Given the description of an element on the screen output the (x, y) to click on. 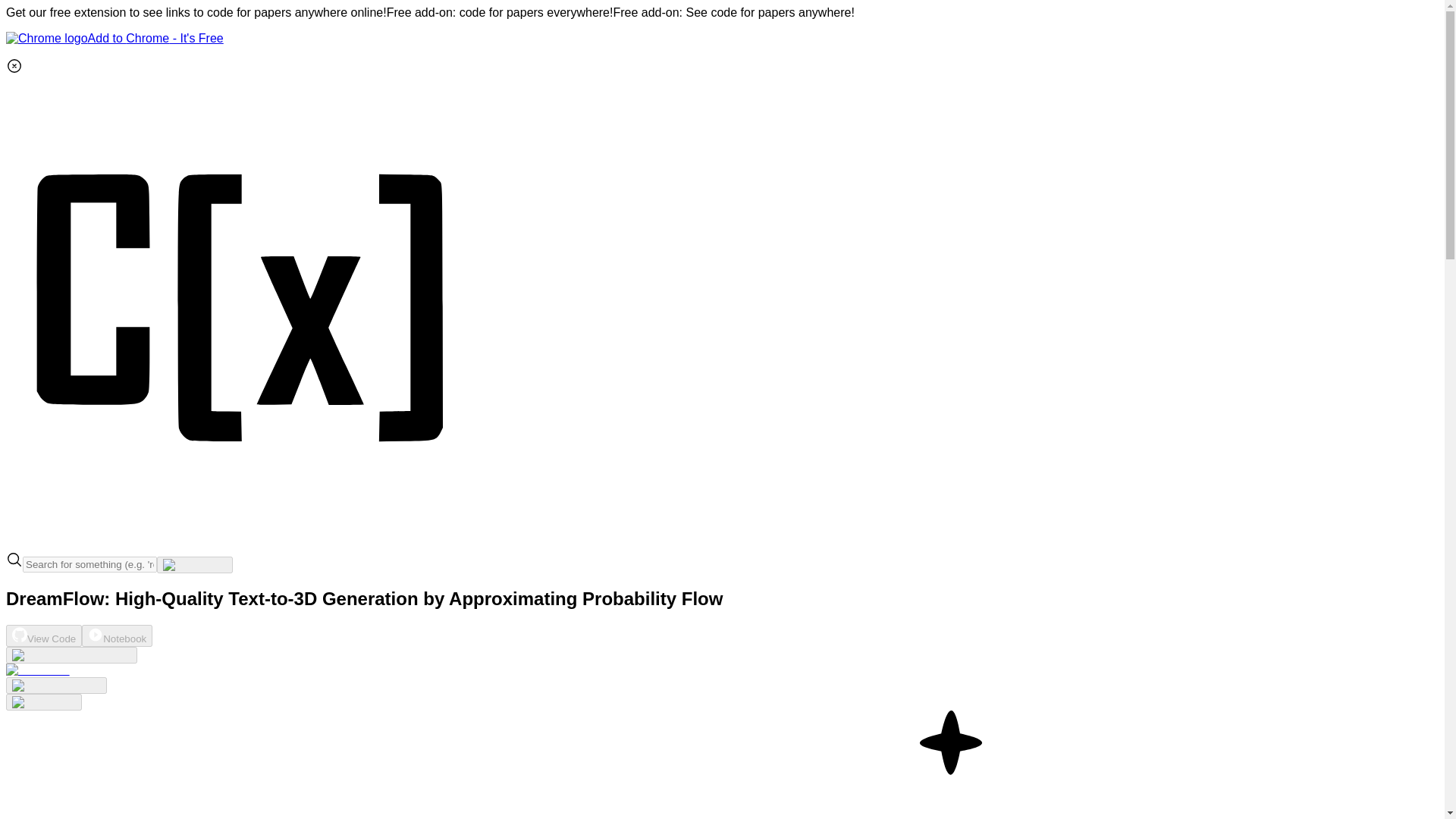
Play Icon (95, 634)
Github IconView Code (43, 635)
CatalyzeX Icon (241, 543)
Contribute your code for this paper to the community (37, 670)
Github Icon (19, 634)
Search Icon (14, 559)
View code for similar papers (71, 654)
Play IconNotebook (116, 635)
Get alerts when new code is available for this paper (43, 701)
